Given the description of an element on the screen output the (x, y) to click on. 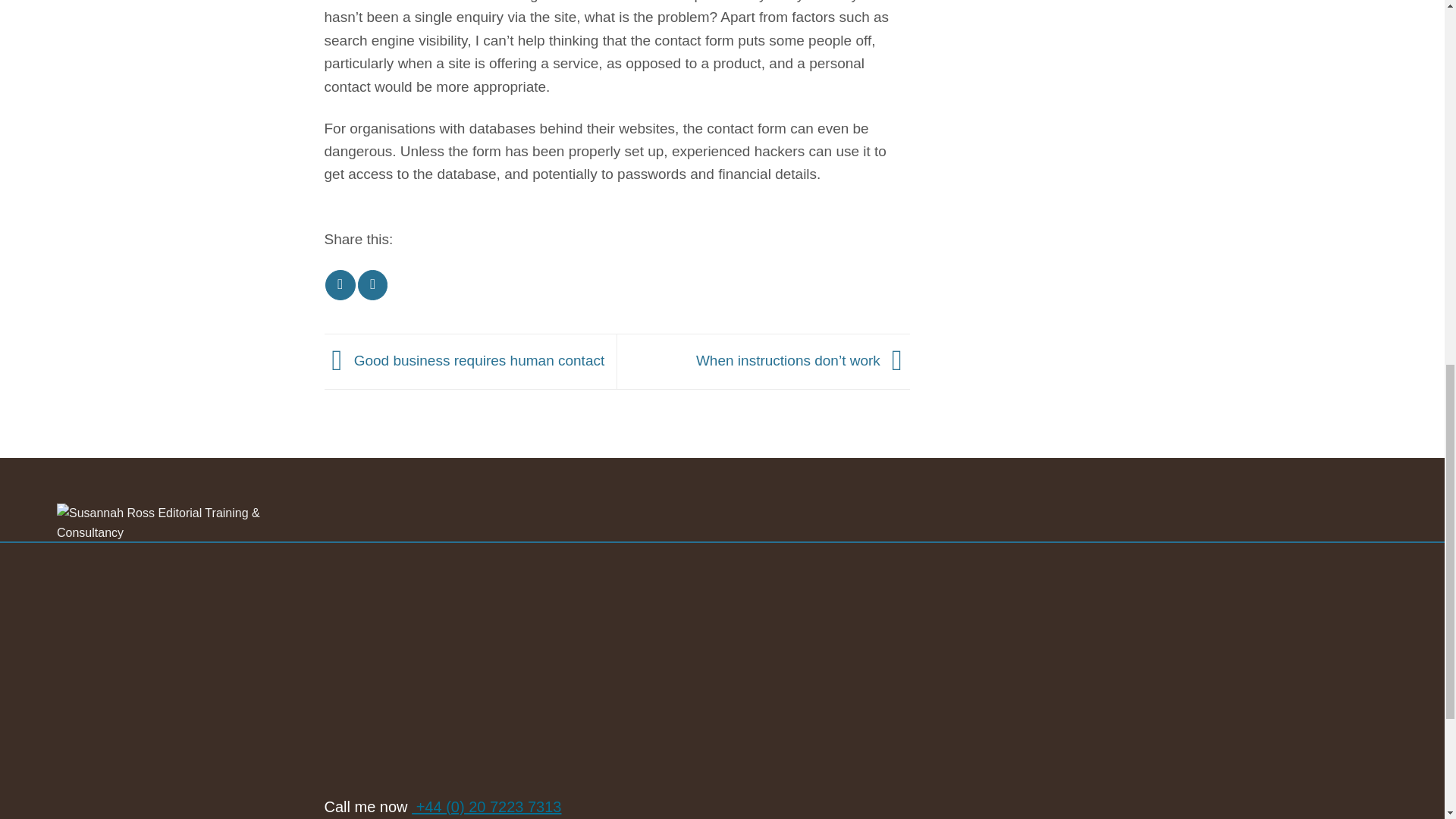
Email to a Friend (339, 285)
Good business requires human contact (464, 360)
Share on LinkedIn (372, 285)
